Given the description of an element on the screen output the (x, y) to click on. 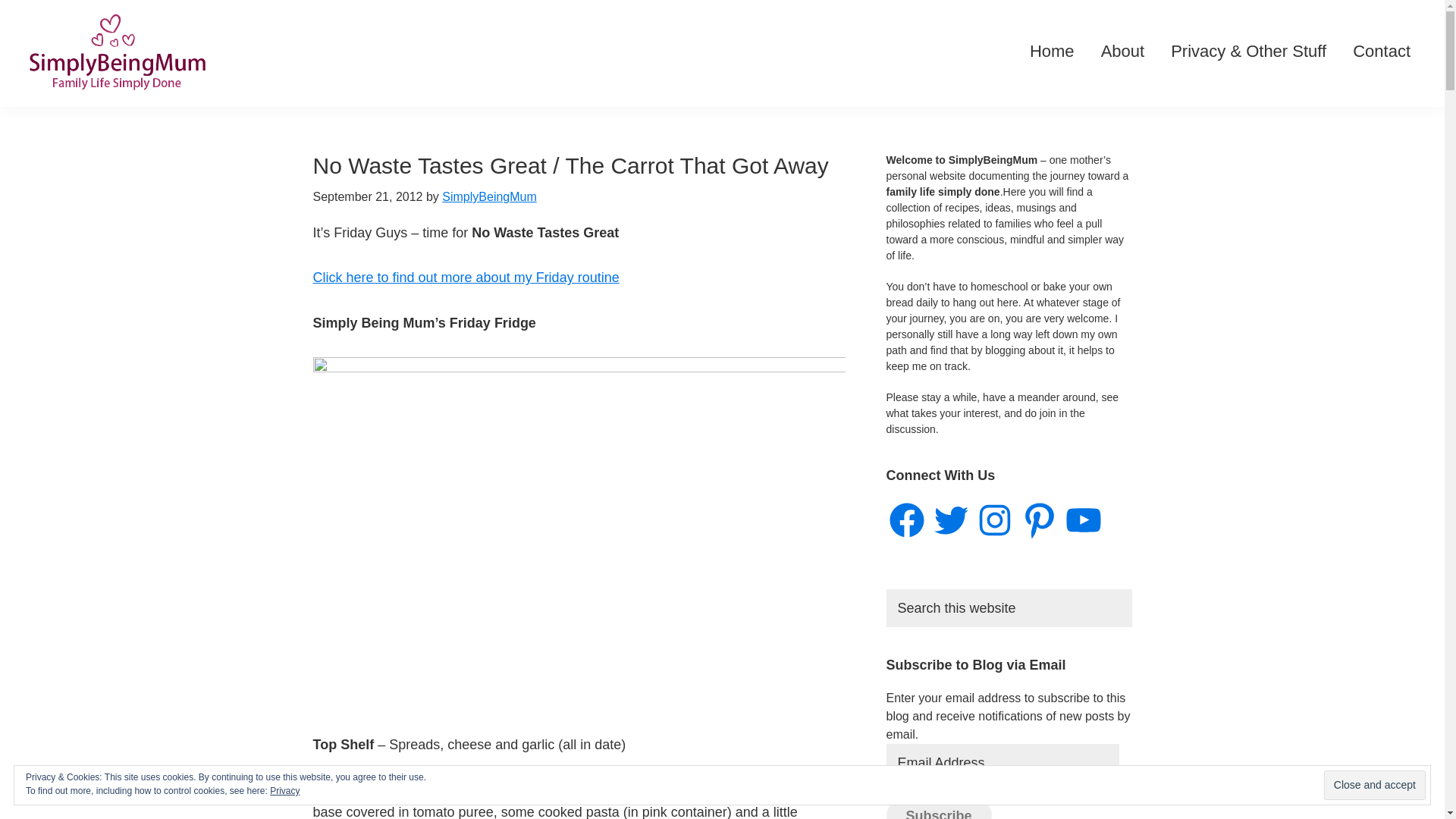
Close and accept (1374, 785)
Contact (1381, 51)
Click here to find out more about my Friday routine (465, 277)
SimplyBeingMum (488, 196)
